Given the description of an element on the screen output the (x, y) to click on. 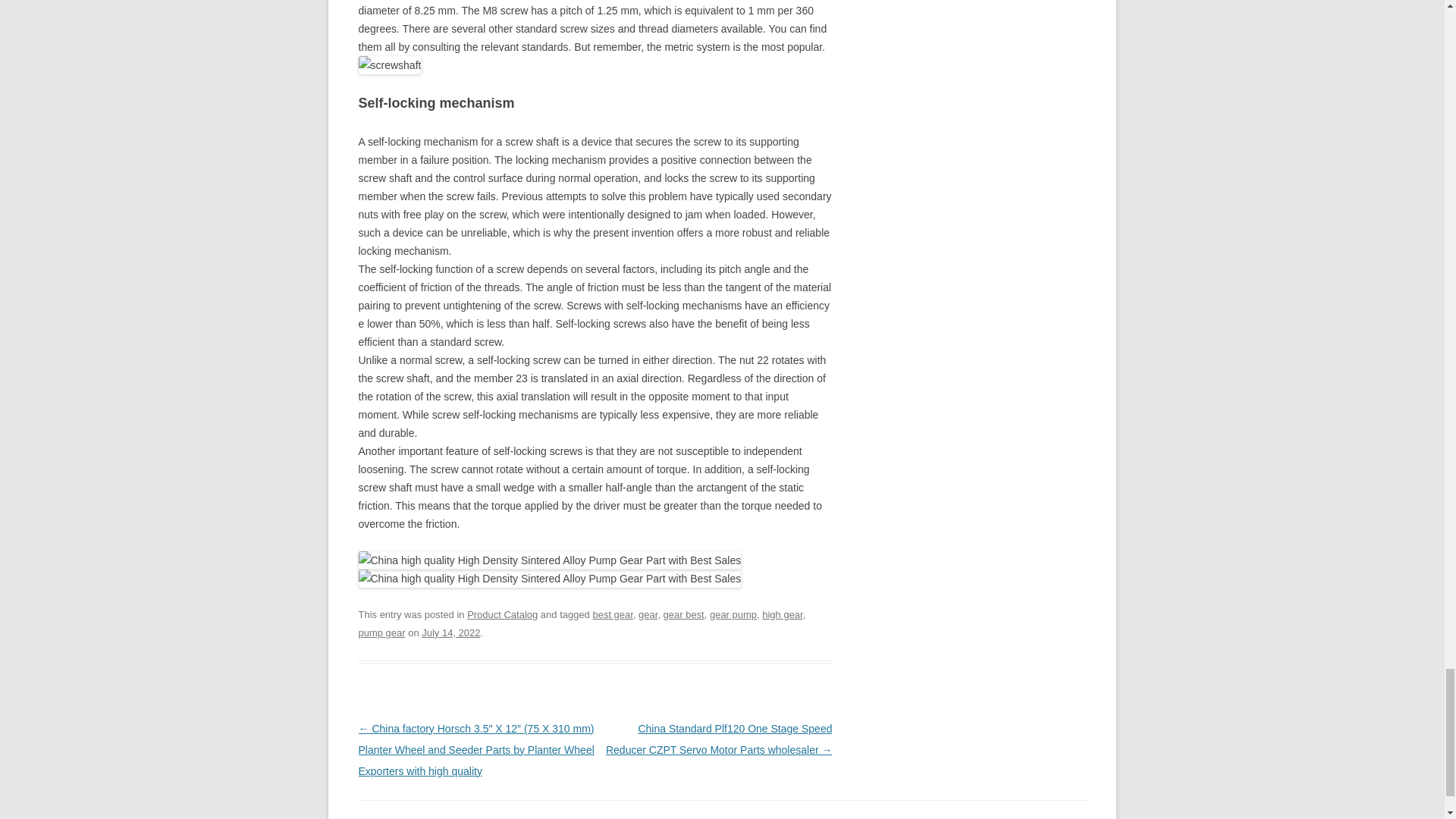
gear best (683, 614)
best gear (611, 614)
Product Catalog (502, 614)
gear pump (733, 614)
9:22 pm (451, 632)
pump gear (381, 632)
gear (648, 614)
July 14, 2022 (451, 632)
high gear (781, 614)
